Given the description of an element on the screen output the (x, y) to click on. 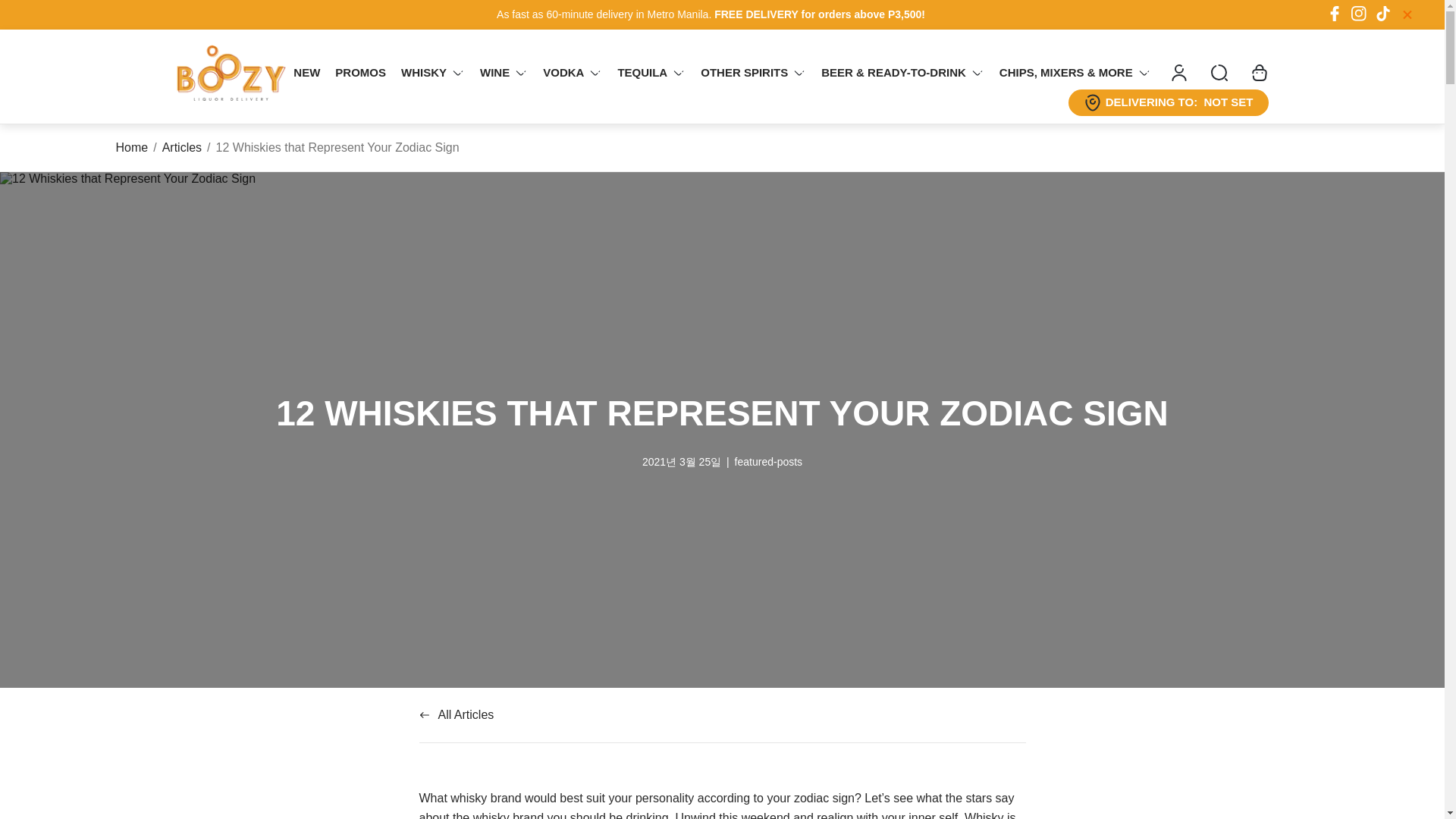
Home (131, 147)
WHISKY (432, 73)
NEW (306, 72)
WINE (503, 73)
PROMOS (360, 72)
